Given the description of an element on the screen output the (x, y) to click on. 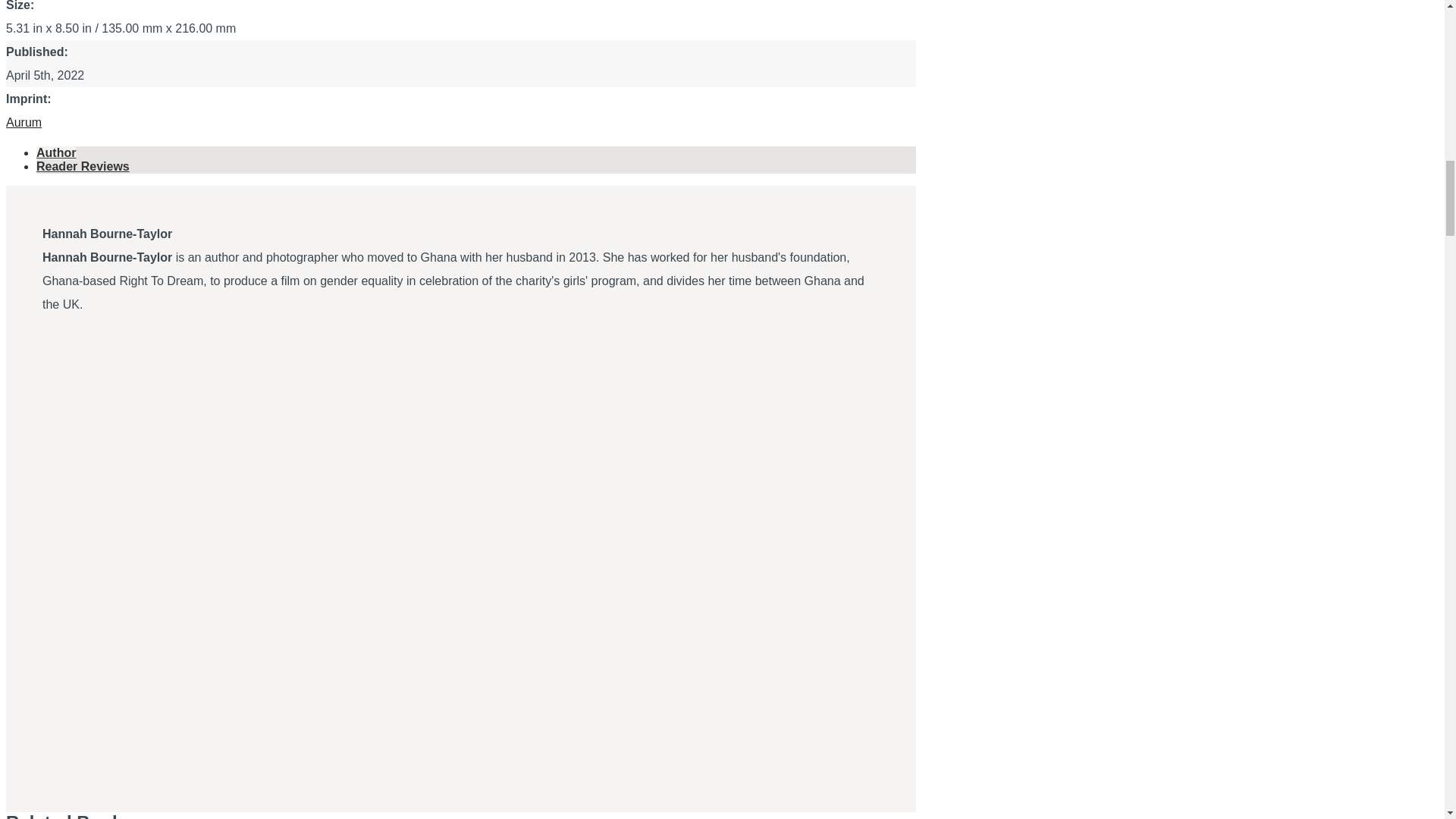
Reader Reviews (23, 122)
Author (82, 165)
